Given the description of an element on the screen output the (x, y) to click on. 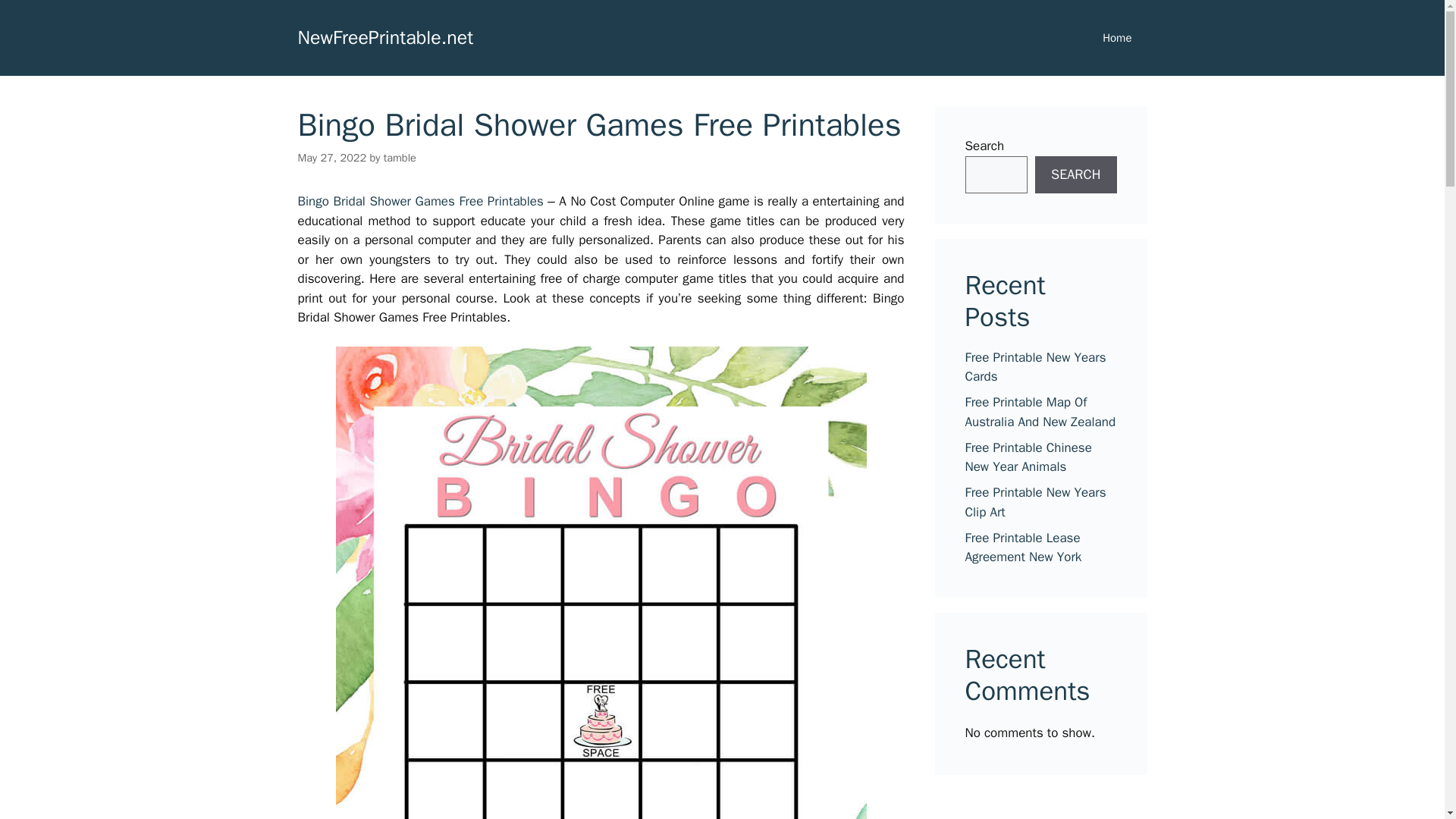
Free Printable Lease Agreement New York (1022, 547)
Free Printable New Years Cards (1034, 366)
Free Printable Map Of Australia And New Zealand (1039, 411)
Free Printable New Years Clip Art (1034, 502)
Home (1117, 37)
NewFreePrintable.net (385, 37)
View all posts by tamble (400, 157)
Bingo Bridal Shower Games Free Printables (420, 201)
Free Printable Chinese New Year Animals (1026, 457)
SEARCH (1075, 174)
tamble (400, 157)
